Given the description of an element on the screen output the (x, y) to click on. 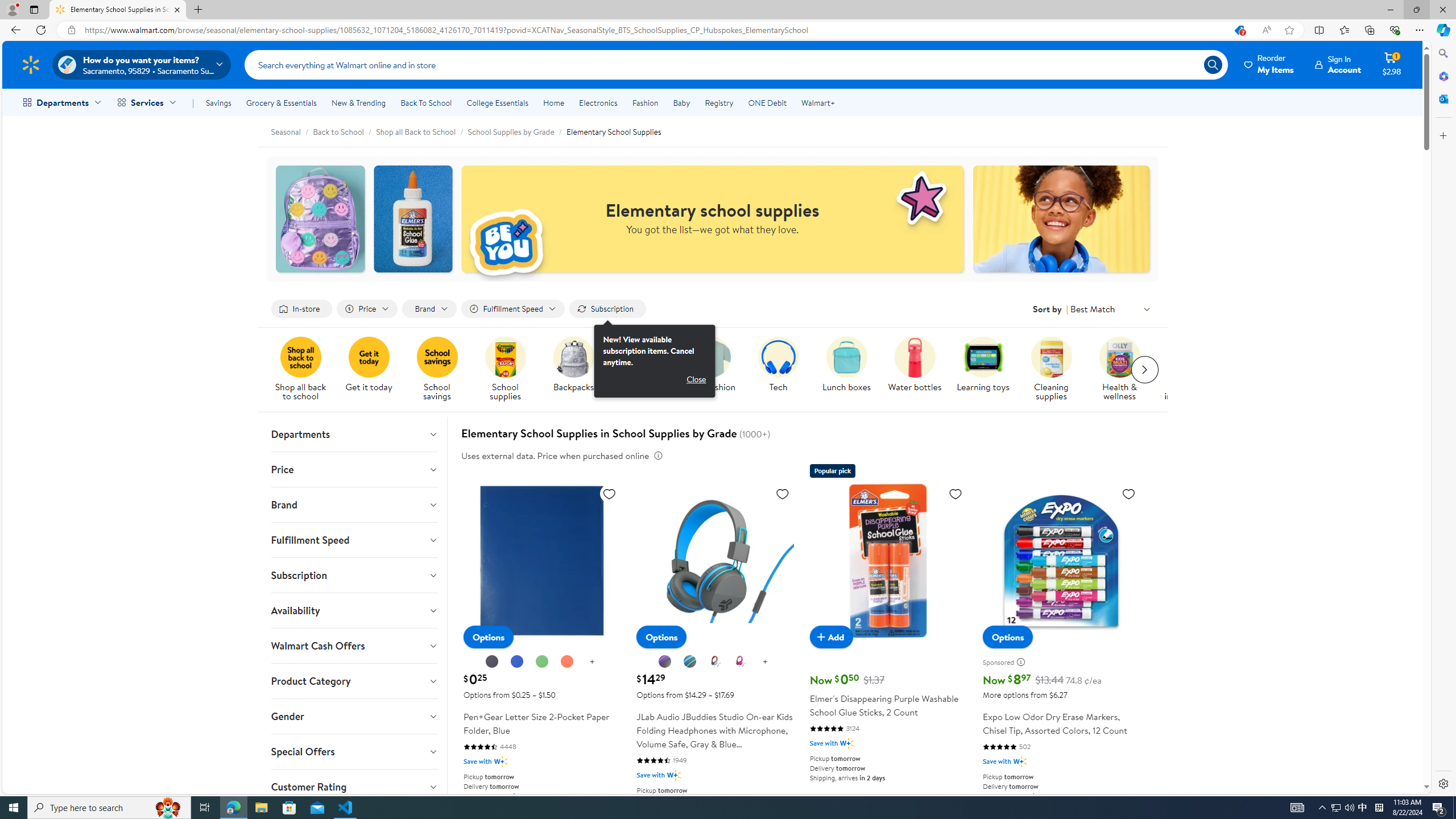
Price (354, 469)
Health & wellness (1123, 369)
ReorderMy Items (1269, 64)
Lunch boxes (846, 357)
Walmart Cash Offers (354, 645)
Next slide for chipModuleWithImages list (1144, 370)
Special Offers (354, 751)
Sort by Best Match (1110, 308)
Get it today (368, 357)
This site has coupons! Shopping in Microsoft Edge, 7 (1239, 29)
legal information (657, 455)
Walmart Cash Offers (354, 645)
Shop all back to school (304, 369)
Girls' fashion (646, 369)
